Given the description of an element on the screen output the (x, y) to click on. 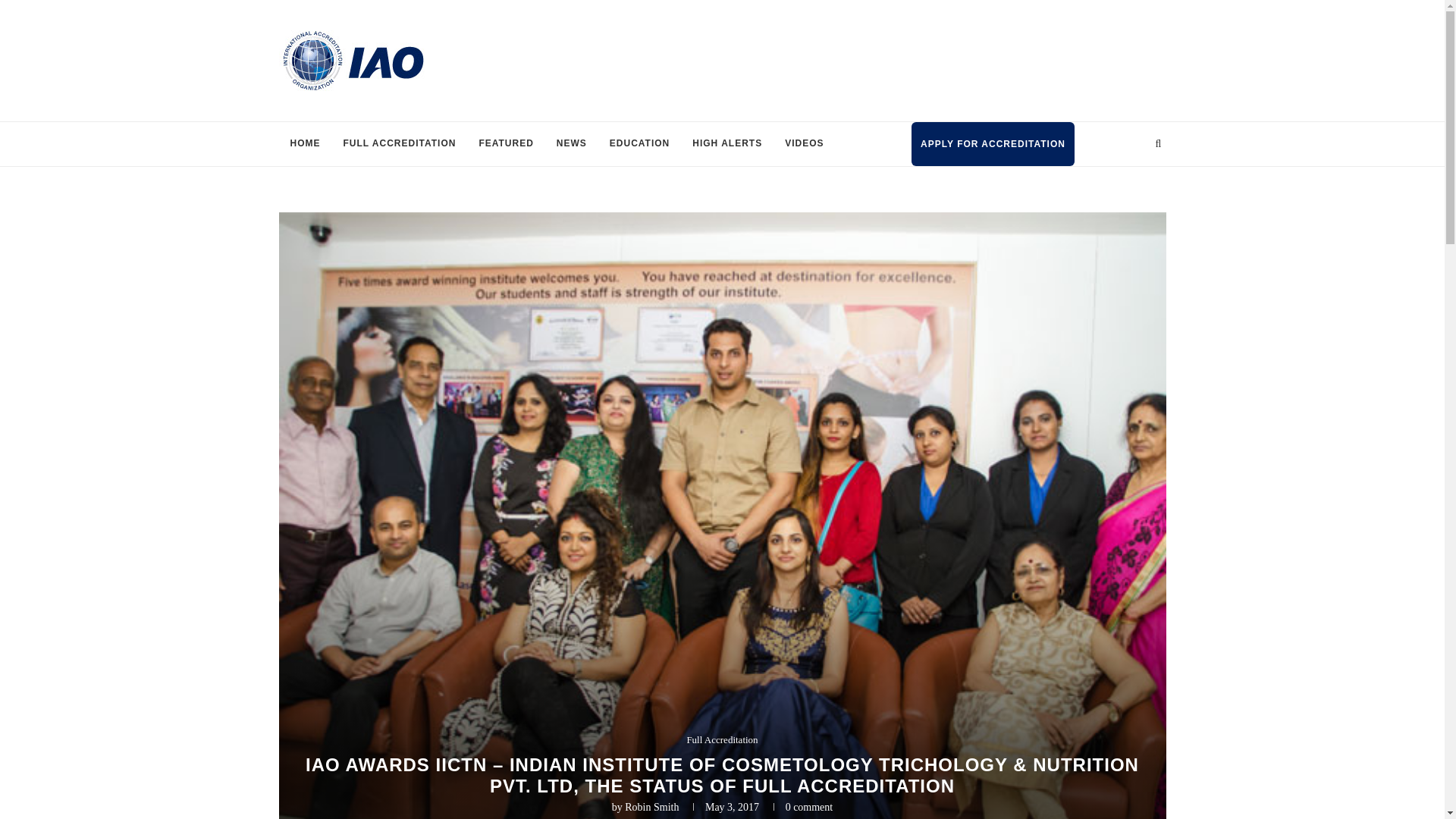
VIDEOS (803, 144)
FEATURED (505, 144)
HOME (305, 144)
Full Accreditation (721, 739)
FULL ACCREDITATION (399, 144)
HIGH ALERTS (727, 144)
Robin Smith (651, 807)
EDUCATION (639, 144)
NEWS (571, 144)
APPLY FOR ACCREDITATION (992, 144)
